Given the description of an element on the screen output the (x, y) to click on. 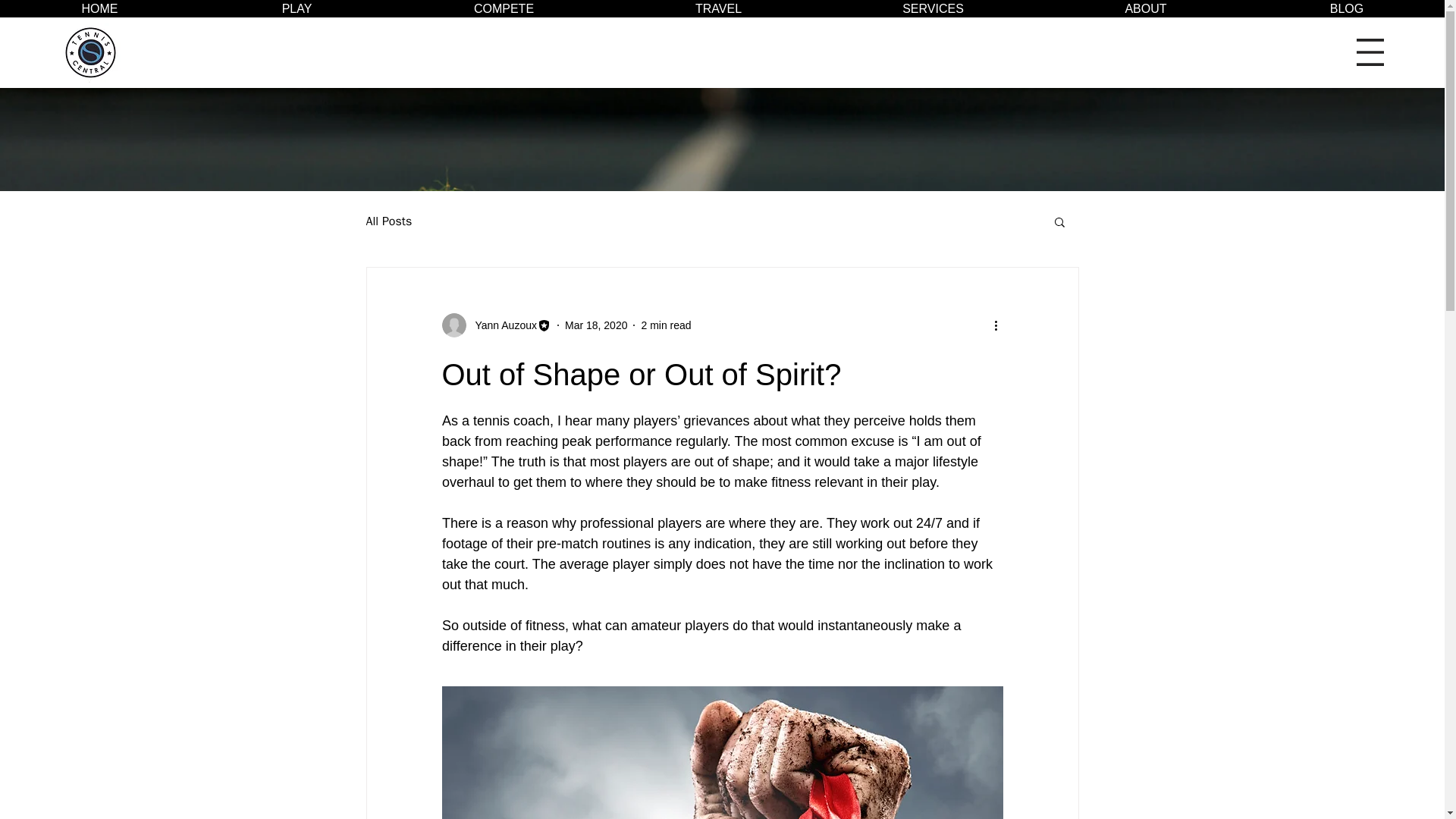
TRAVEL (717, 8)
PLAY (296, 8)
All Posts (388, 221)
Mar 18, 2020 (595, 324)
SERVICES (932, 8)
HOME (99, 8)
Yann Auzoux (500, 324)
2 min read (665, 324)
COMPETE (502, 8)
ABOUT (1144, 8)
